Given the description of an element on the screen output the (x, y) to click on. 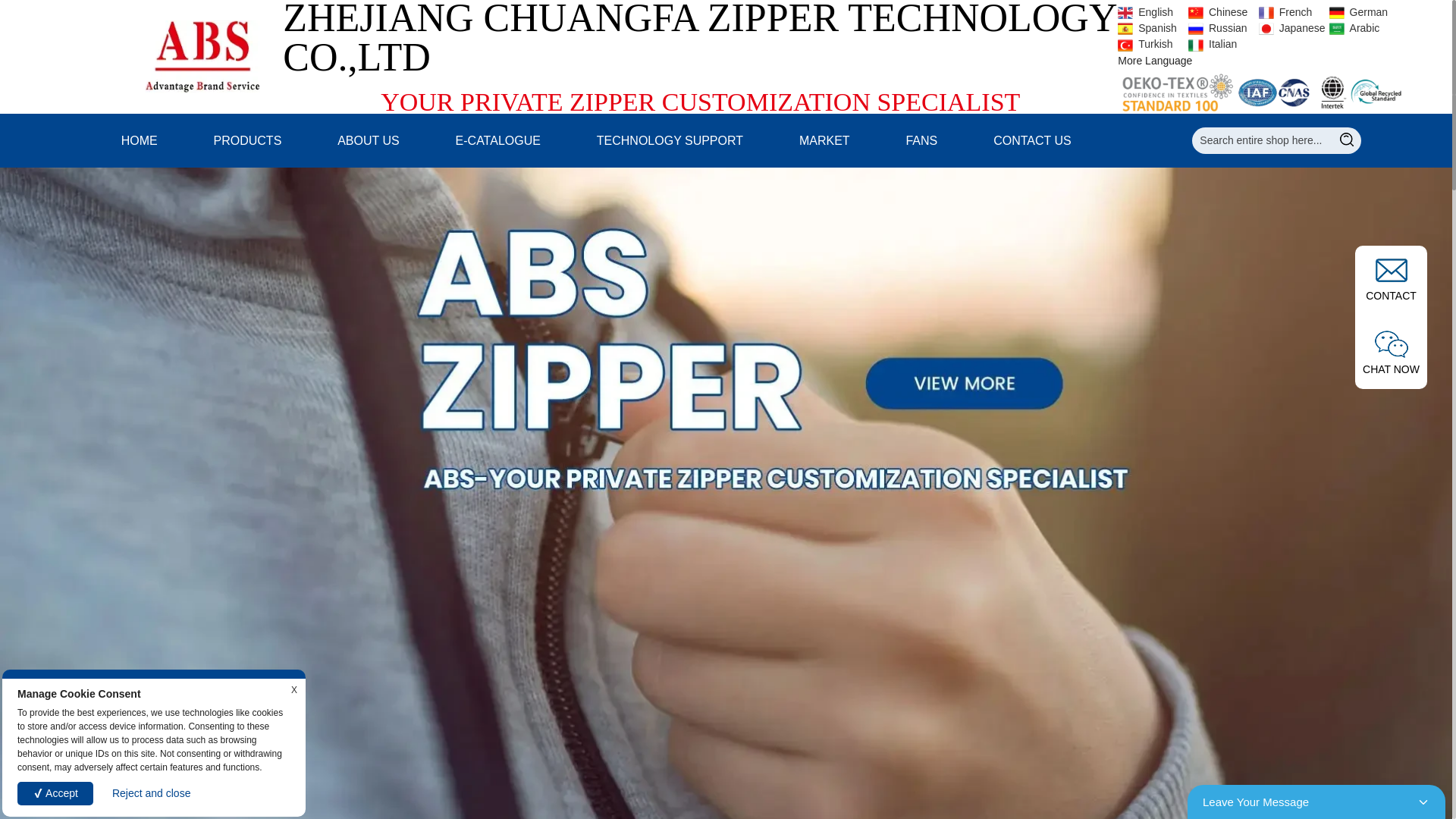
CONTACT (1390, 280)
English (1151, 11)
Turkish (1151, 43)
Spanish (1151, 28)
CHAT NOW (1390, 352)
Chinese (1221, 11)
Italian (1221, 43)
French (1292, 11)
German (1362, 11)
Arabic (1362, 28)
CHAT NOW (1390, 353)
CONTACT (1390, 279)
Russian (1221, 28)
Japanese (1292, 28)
